Given the description of an element on the screen output the (x, y) to click on. 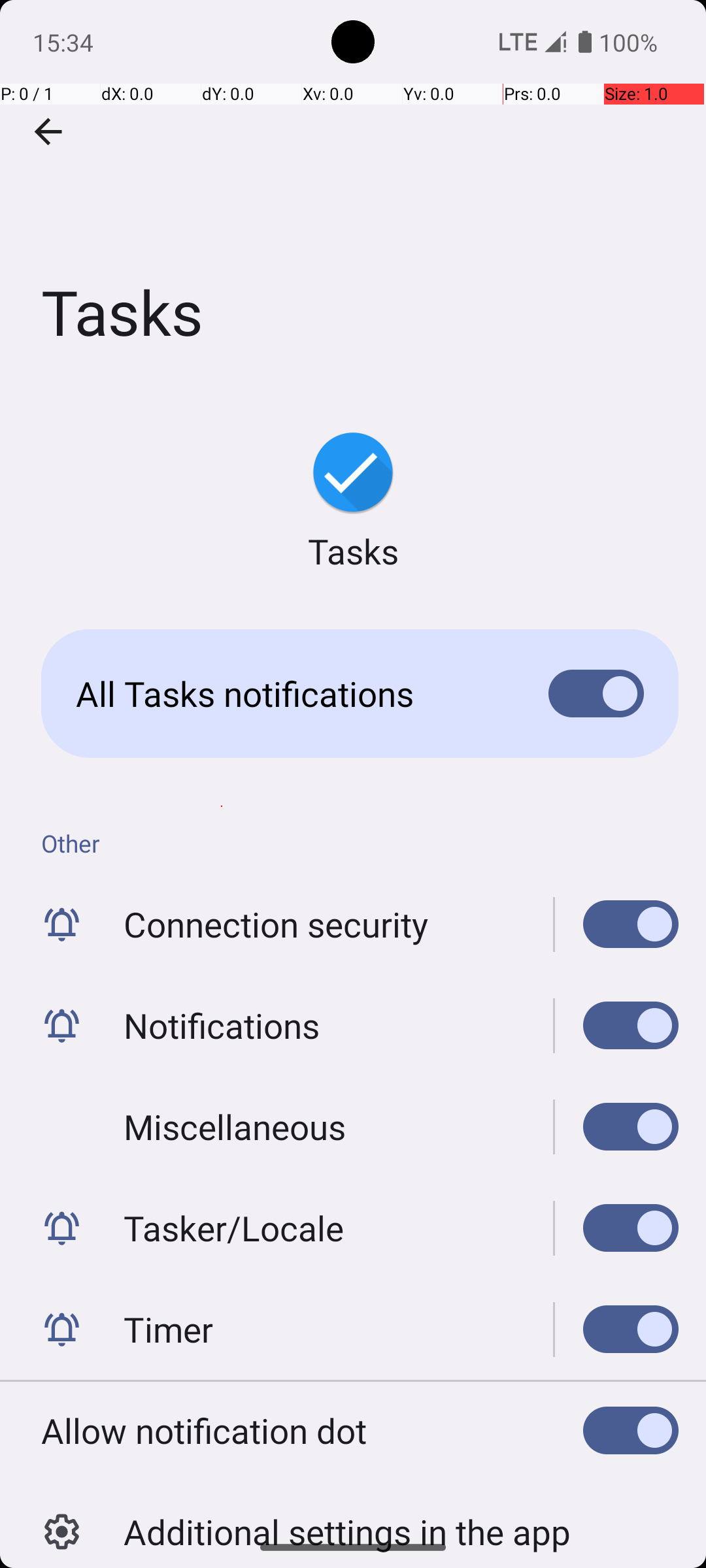
All Tasks notifications Element type: android.widget.TextView (291, 693)
Connection security Element type: android.widget.TextView (275, 923)
Tasker/Locale Element type: android.widget.TextView (233, 1227)
Additional settings in the app Element type: android.widget.TextView (346, 1517)
